Given the description of an element on the screen output the (x, y) to click on. 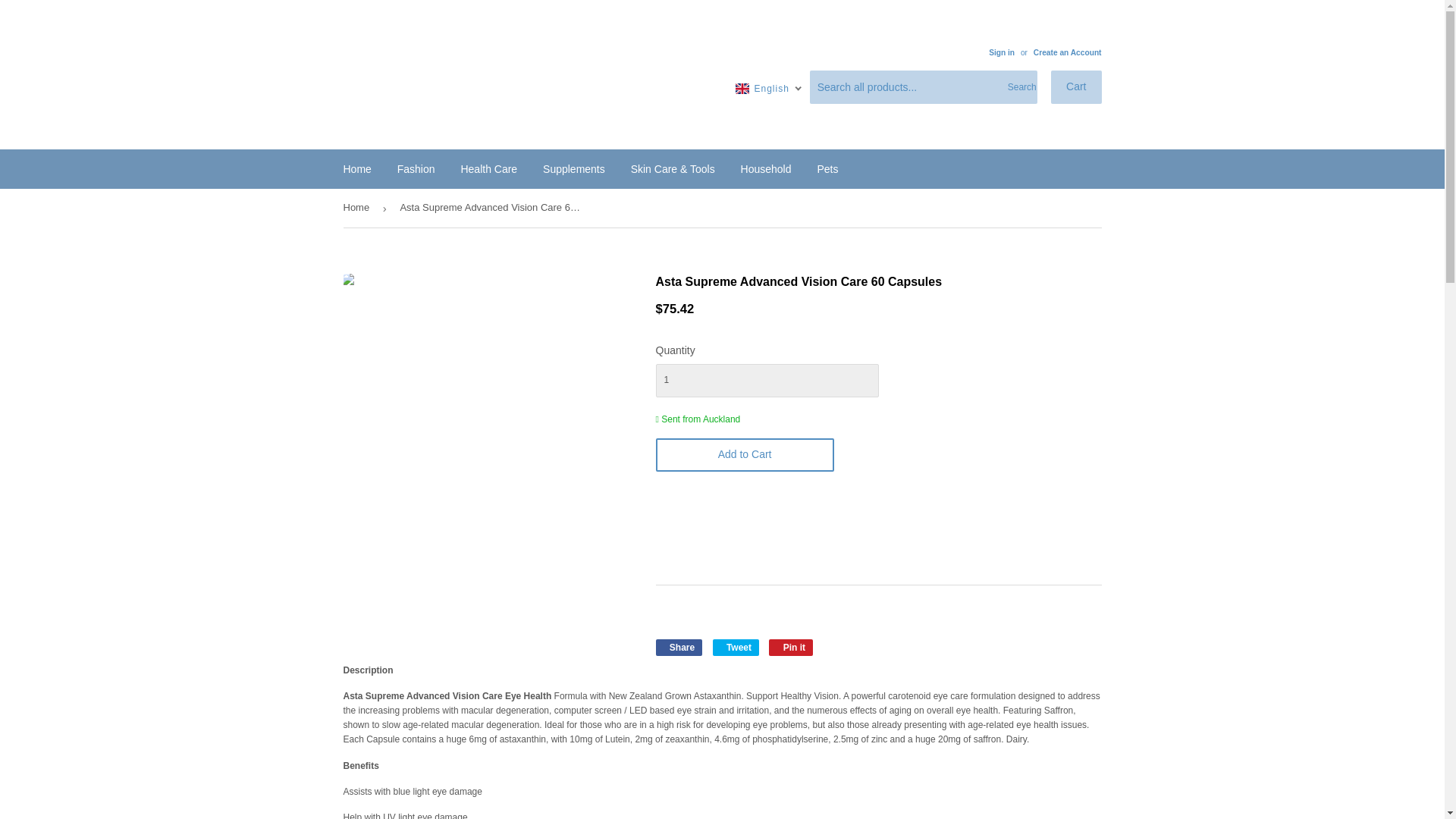
Pin on Pinterest (790, 647)
Sign in (1001, 52)
Tweet on Twitter (735, 647)
1 (766, 380)
Create an Account (1067, 52)
Search (1019, 88)
Cart (1075, 87)
Share on Facebook (678, 647)
